Given the description of an element on the screen output the (x, y) to click on. 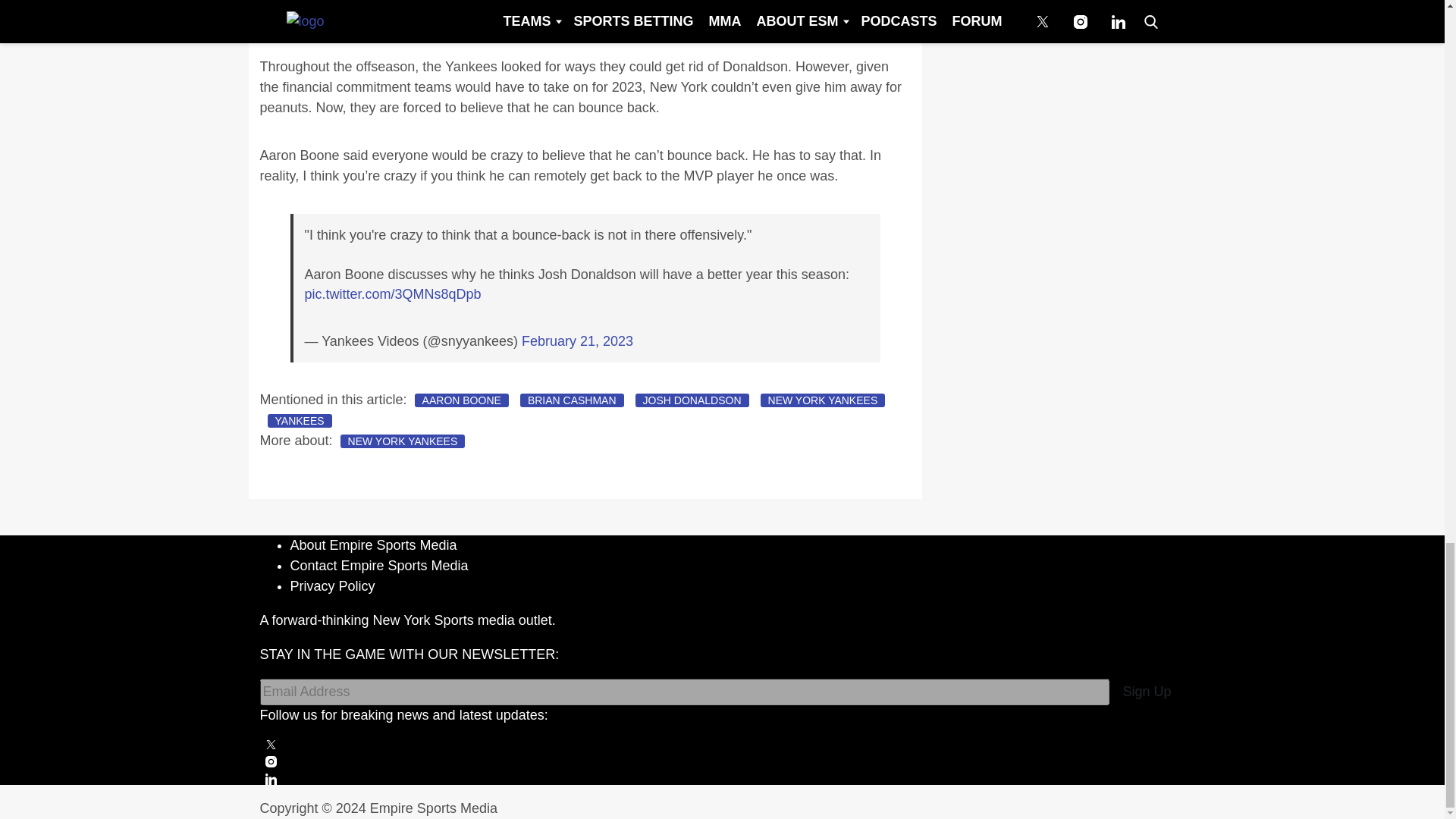
Follow us on Instagram (722, 761)
AARON BOONE (461, 400)
BRIAN CASHMAN (571, 400)
February 21, 2023 (577, 340)
JOSH DONALDSON (691, 400)
Follow us on Twitter (722, 745)
Connect with us on LinkedIn (722, 778)
